Given the description of an element on the screen output the (x, y) to click on. 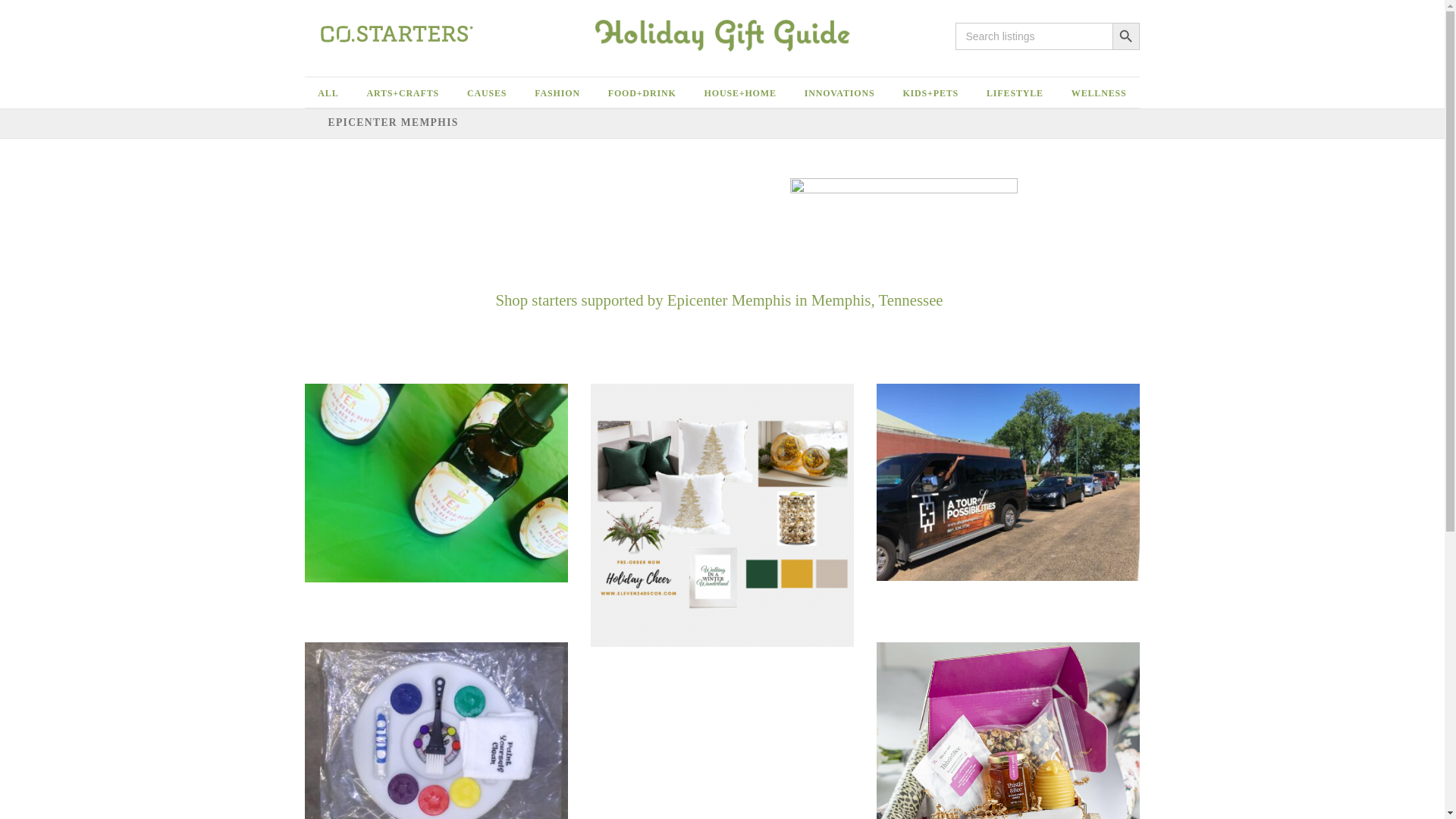
Epicenter Memphis (728, 299)
CAUSES (486, 92)
LIFESTYLE (1015, 91)
INNOVATIONS (840, 91)
Search Button (1126, 35)
FASHION (556, 92)
WELLNESS (1098, 91)
